Given the description of an element on the screen output the (x, y) to click on. 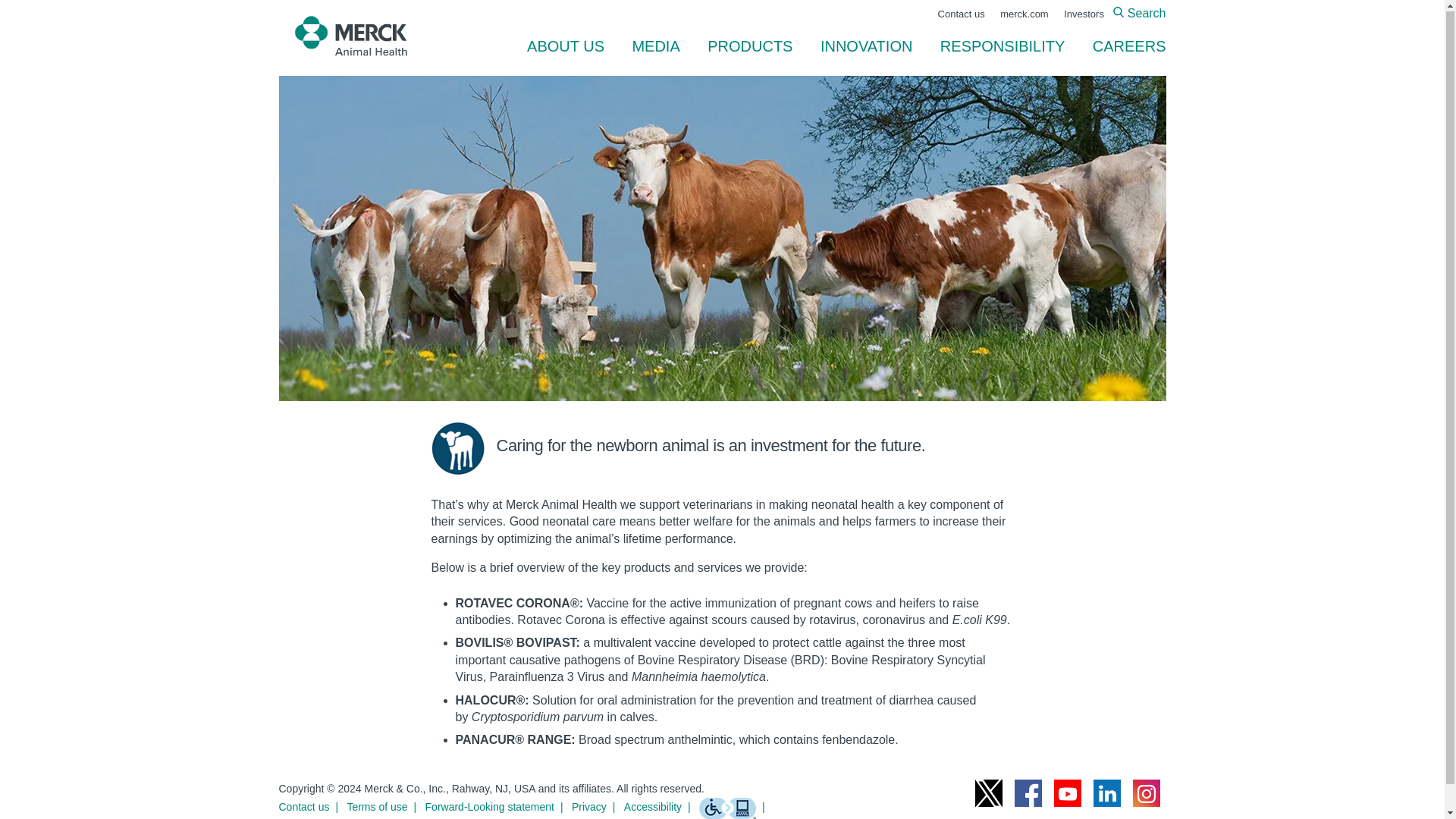
MEDIA (655, 45)
Twitter: Merck Animal Health (989, 792)
Facebook: Merck Animal Health (1028, 792)
Contact us (312, 806)
CAREERS (1123, 45)
Accessibility (660, 806)
RESPONSIBILITY (1002, 45)
Search (1139, 11)
PRODUCTS (750, 45)
merck.com (1024, 13)
INNOVATION (866, 45)
Forward-Looking statement (497, 806)
Instagram: Merck Animal Health (1146, 792)
ABOUT US (565, 45)
Careers (1123, 45)
